Given the description of an element on the screen output the (x, y) to click on. 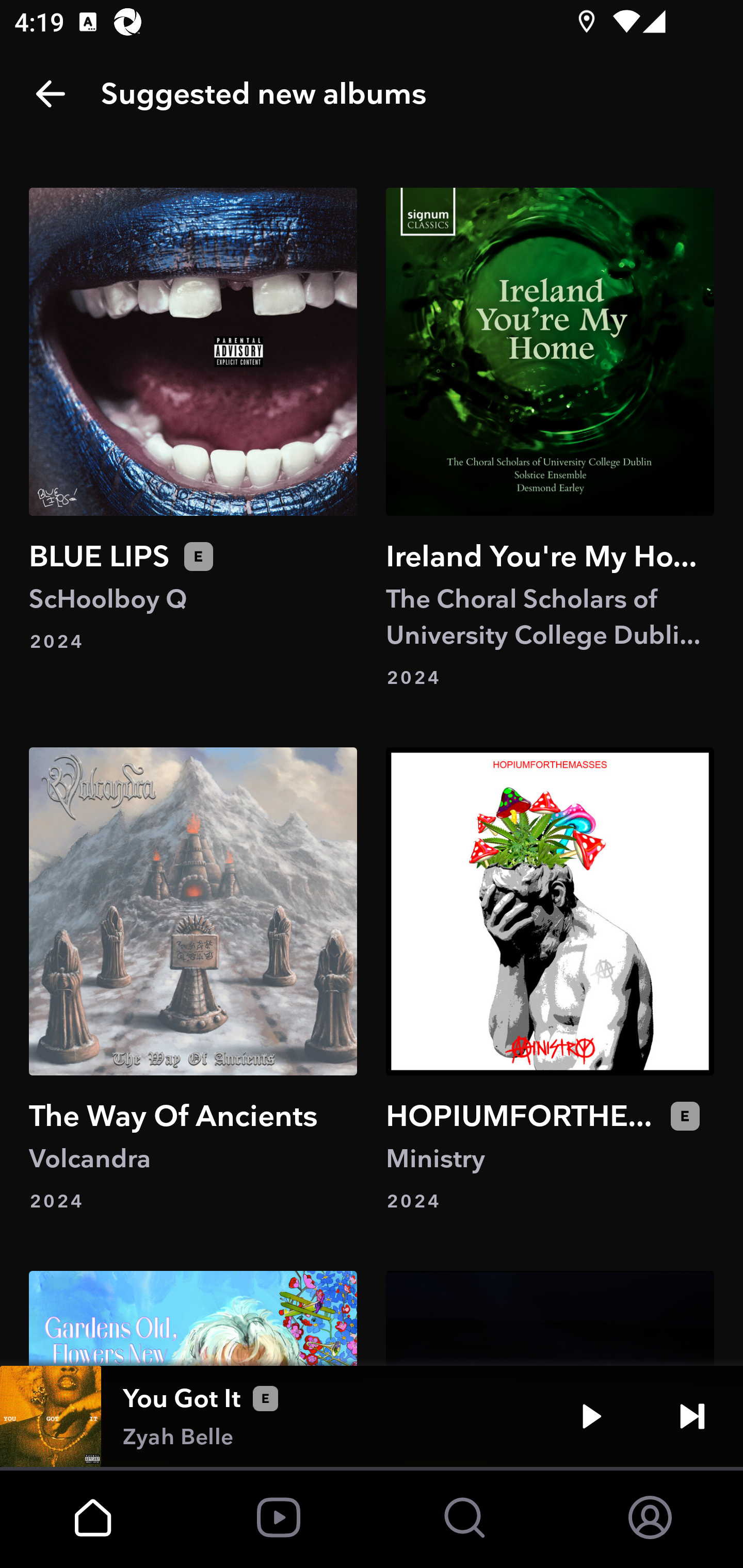
BLUE LIPS ScHoolboy Q 2024 (192, 438)
The Way Of Ancients Volcandra 2024 (192, 980)
HOPIUMFORTHEMASSES Ministry 2024 (549, 980)
You Got It    Zyah Belle Play (371, 1416)
Play (590, 1416)
